Given the description of an element on the screen output the (x, y) to click on. 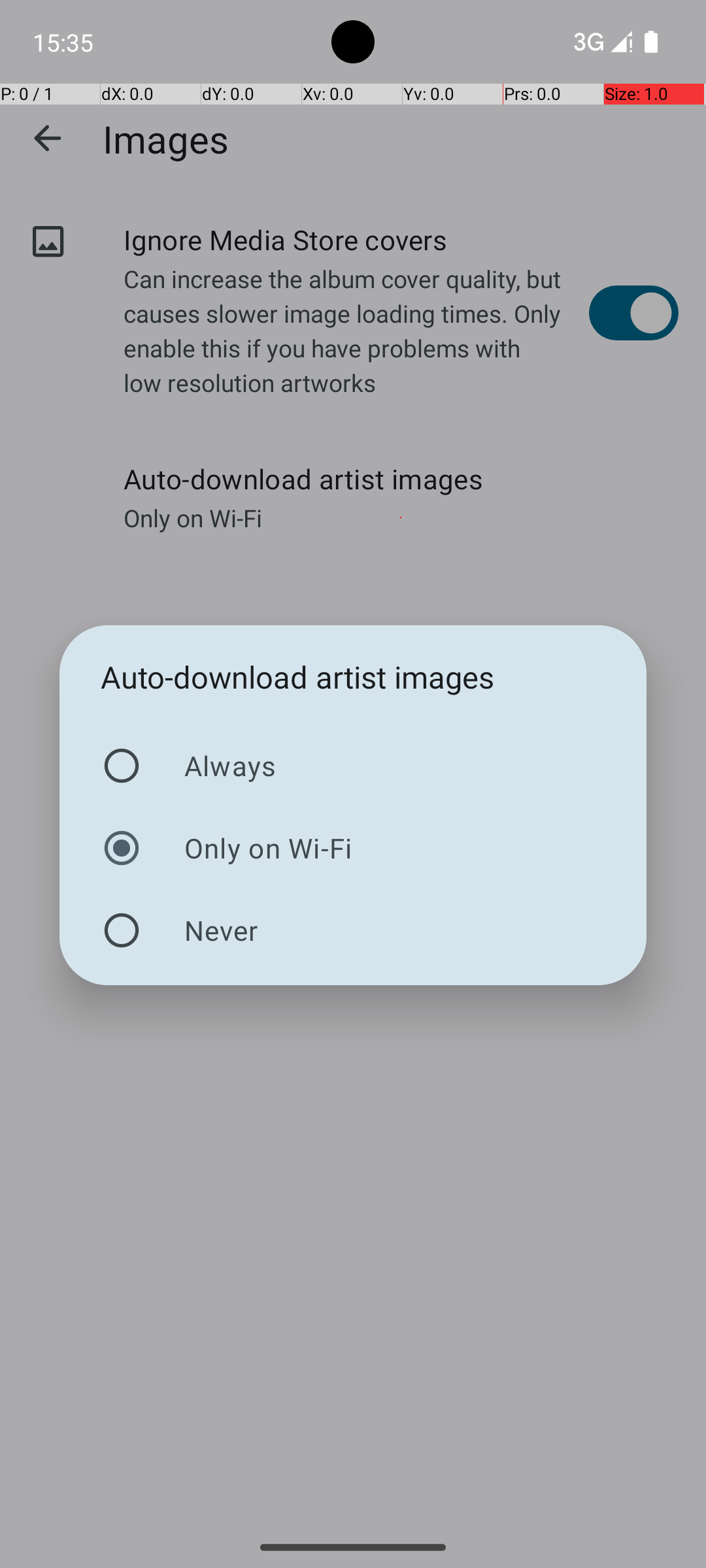
Auto-download artist images Element type: android.widget.TextView (297, 676)
Always Element type: android.widget.CheckedTextView (352, 765)
Only on Wi-Fi Element type: android.widget.CheckedTextView (352, 847)
Never Element type: android.widget.CheckedTextView (352, 930)
